Given the description of an element on the screen output the (x, y) to click on. 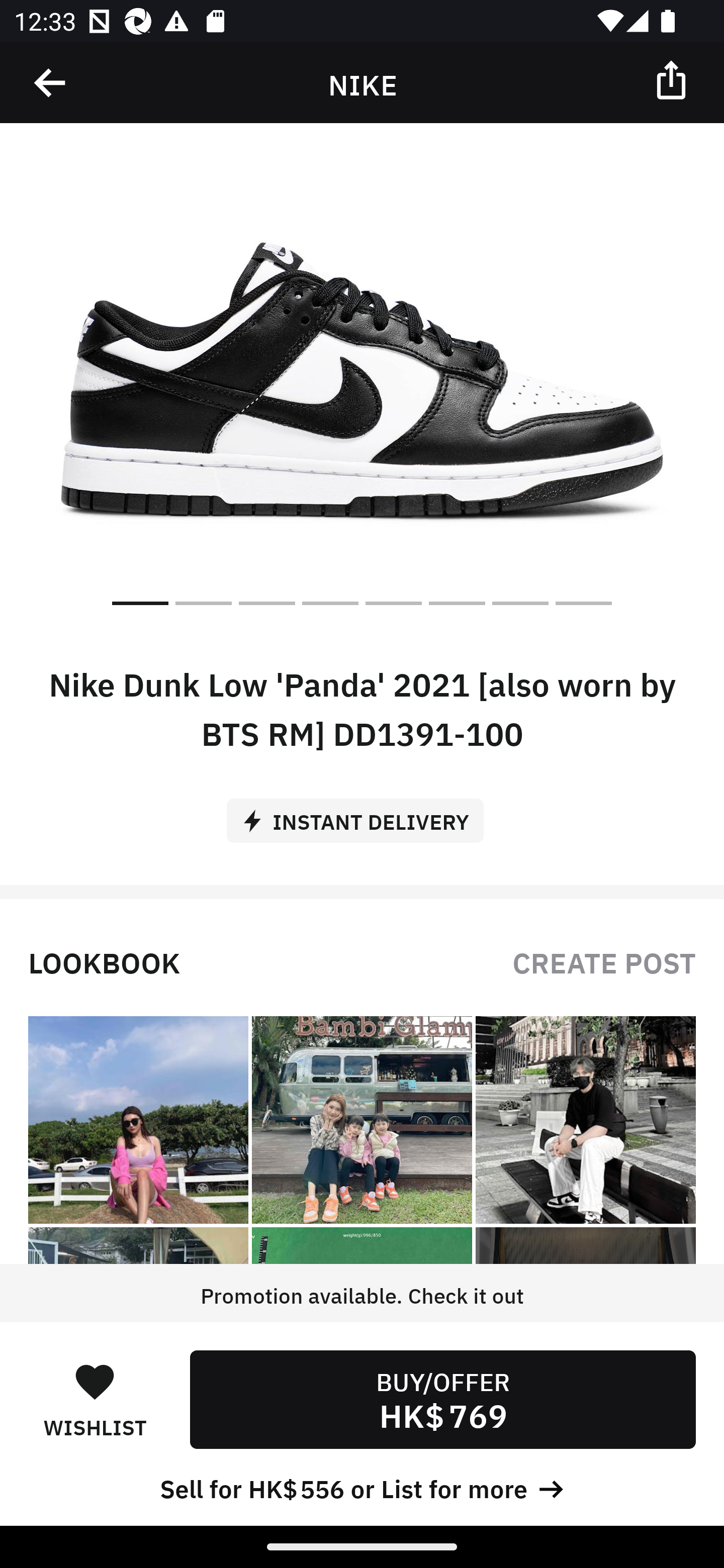
 (50, 83)
 (672, 79)
 INSTANT DELIVERY (362, 813)
CREATE POST (603, 960)
BUY/OFFER HK$ 769 (442, 1399)
󰋑 (94, 1380)
Sell for HK$ 556 or List for more (361, 1486)
